Given the description of an element on the screen output the (x, y) to click on. 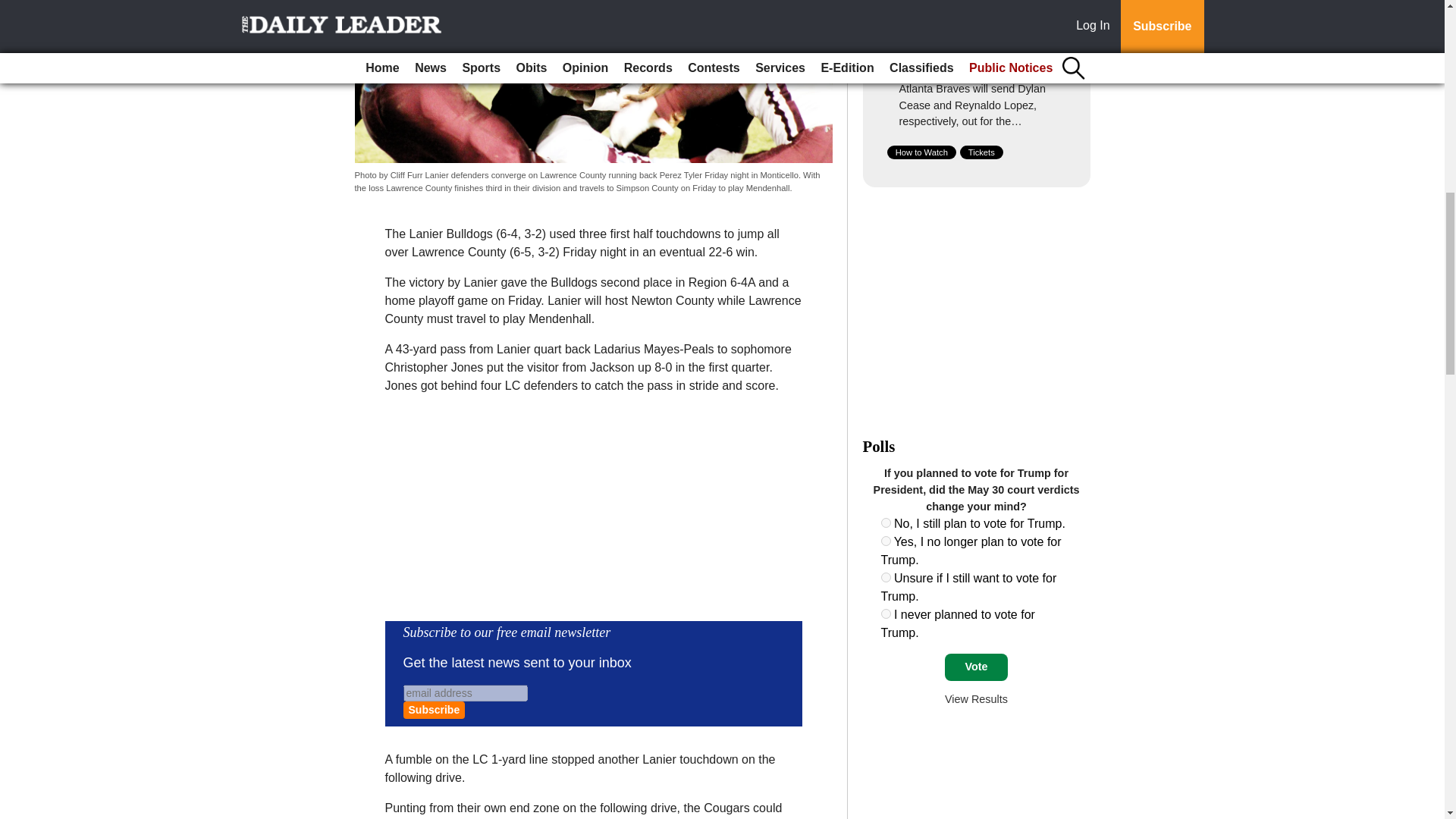
846 (885, 522)
Subscribe (434, 710)
   Vote    (975, 666)
847 (885, 541)
View Results Of This Poll (975, 698)
How to Watch (921, 151)
Tickets (981, 151)
848 (885, 577)
849 (885, 614)
Subscribe (434, 710)
